Given the description of an element on the screen output the (x, y) to click on. 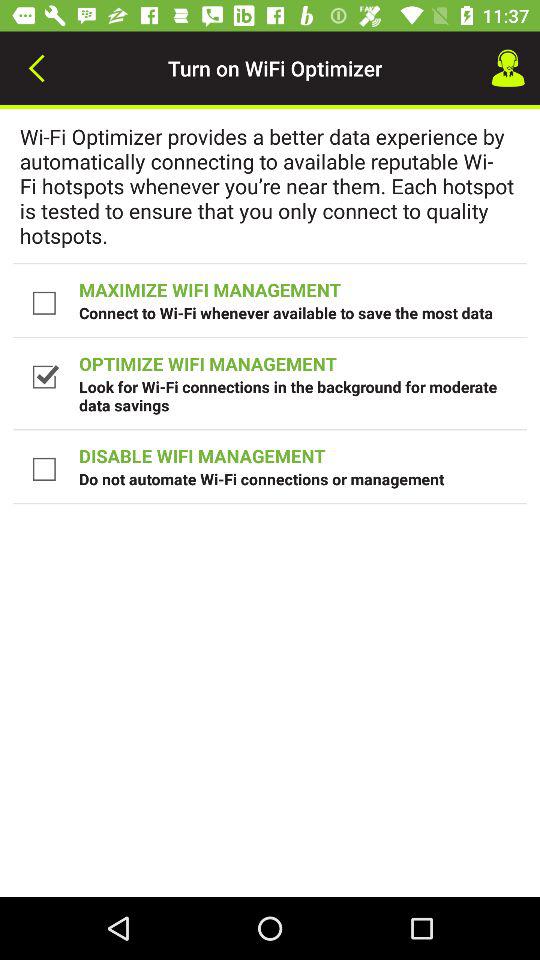
press the item to the left of the turn on wifi item (36, 68)
